Given the description of an element on the screen output the (x, y) to click on. 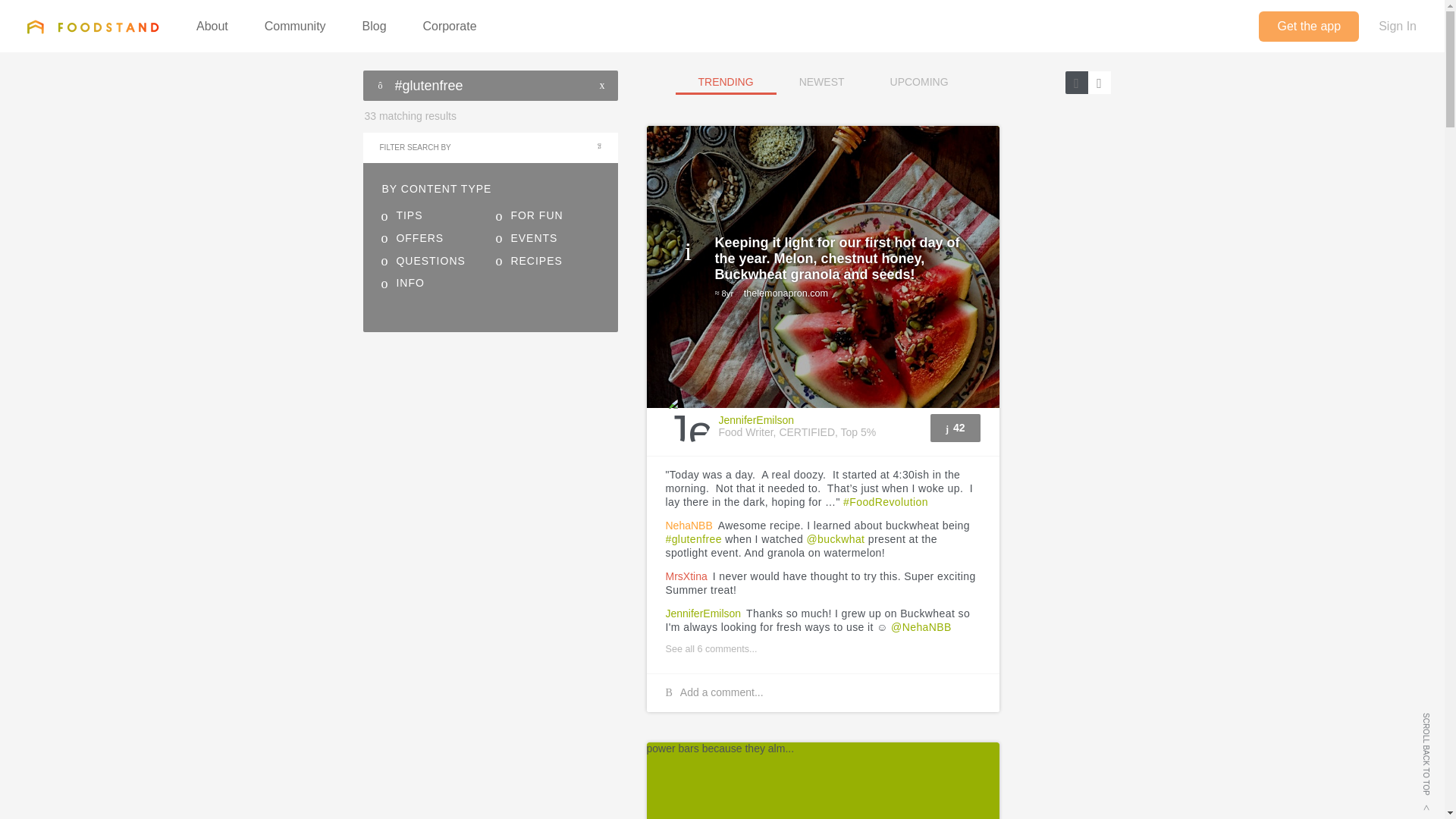
MrsXtina (686, 576)
INFO (402, 283)
FILTER SEARCH BY (489, 147)
FOR FUN (528, 215)
OFFERS (412, 237)
TIPS (401, 215)
Community (295, 26)
RECIPES (528, 260)
UPCOMING (919, 83)
FOODSTAND (954, 428)
TRENDING (93, 26)
NEWEST (725, 83)
Corporate (821, 83)
